Given the description of an element on the screen output the (x, y) to click on. 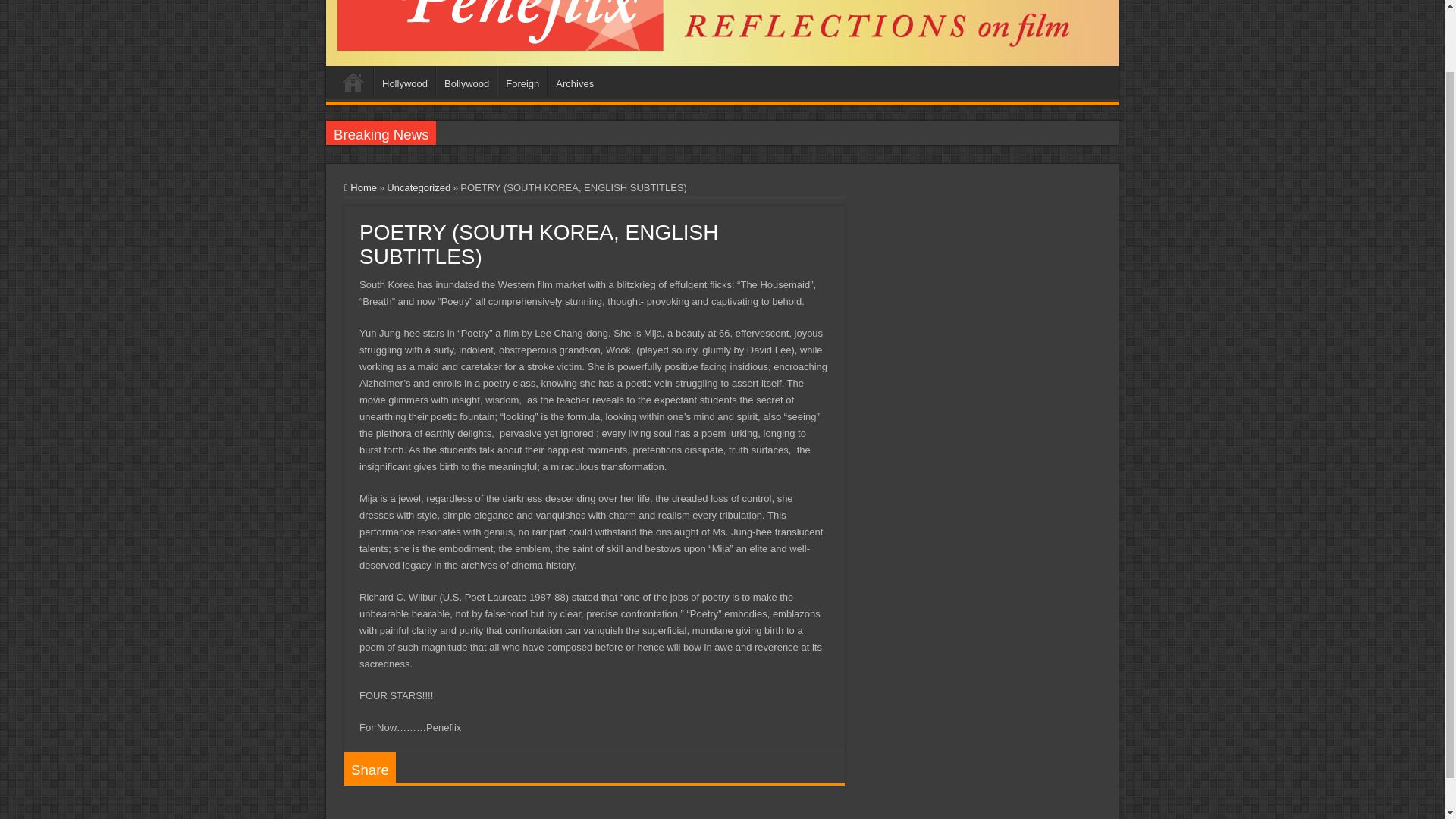
Bollywood (465, 81)
Foreign (522, 81)
Uncategorized (418, 187)
Home (352, 81)
Hollywood (404, 81)
Home (360, 187)
Archives (574, 81)
Peneflix (500, 11)
